Given the description of an element on the screen output the (x, y) to click on. 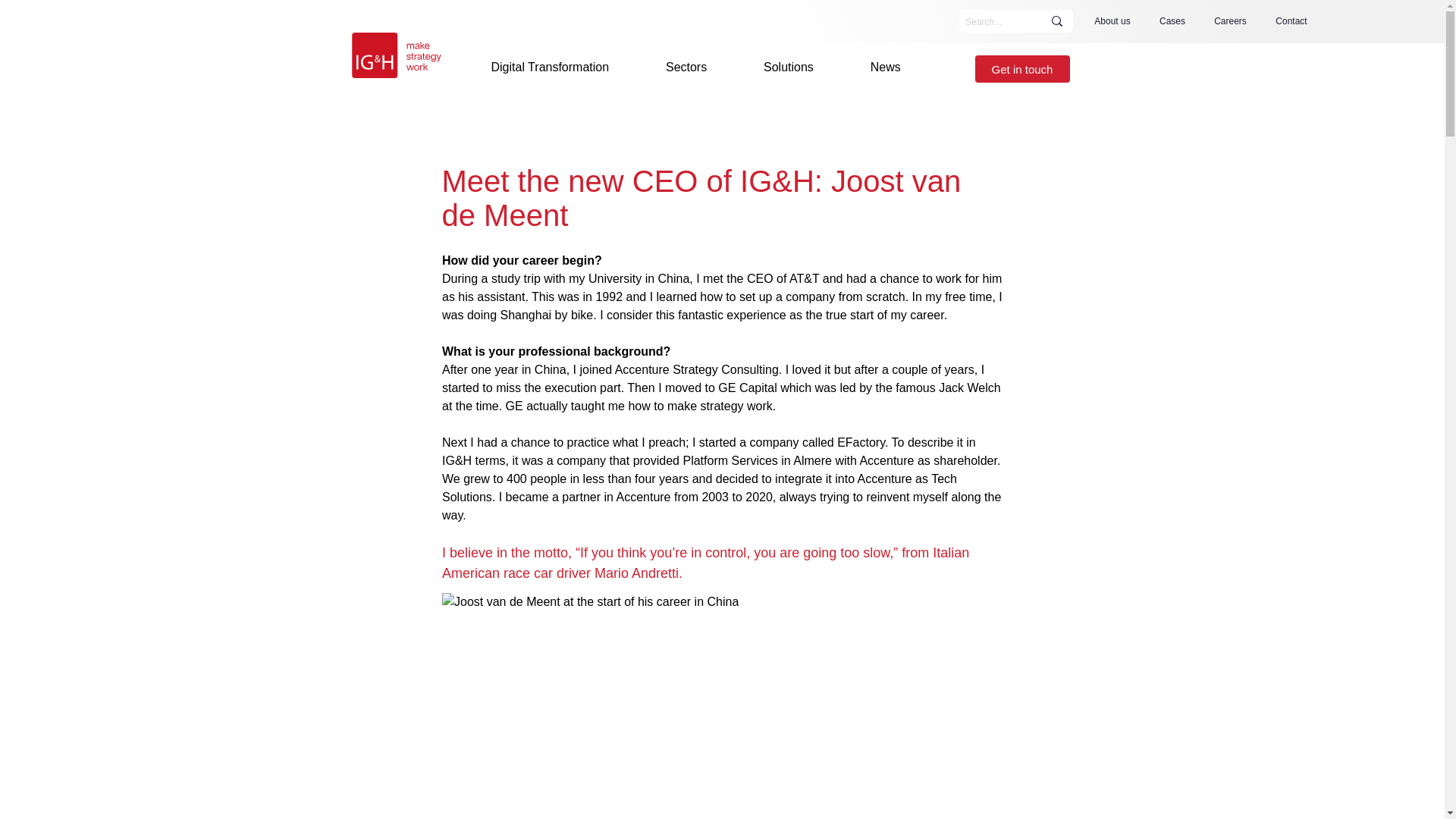
Cases (1171, 21)
About us (1112, 21)
Careers (1229, 21)
Contact (1291, 21)
